Given the description of an element on the screen output the (x, y) to click on. 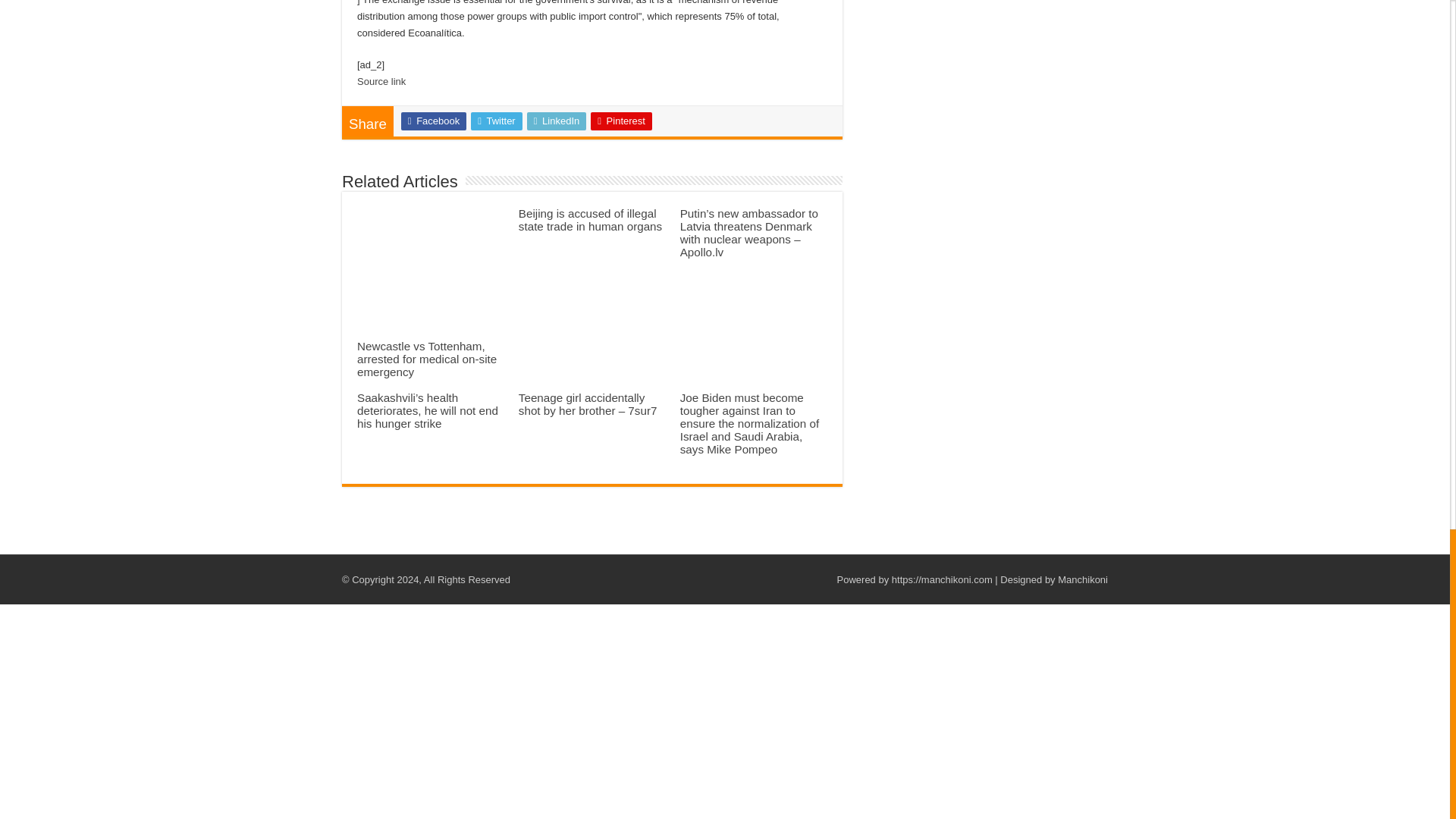
Pinterest (621, 121)
Twitter (495, 121)
LinkedIn (556, 121)
Source link (381, 81)
Facebook (433, 121)
Beijing is accused of illegal state trade in human organs (590, 219)
